Given the description of an element on the screen output the (x, y) to click on. 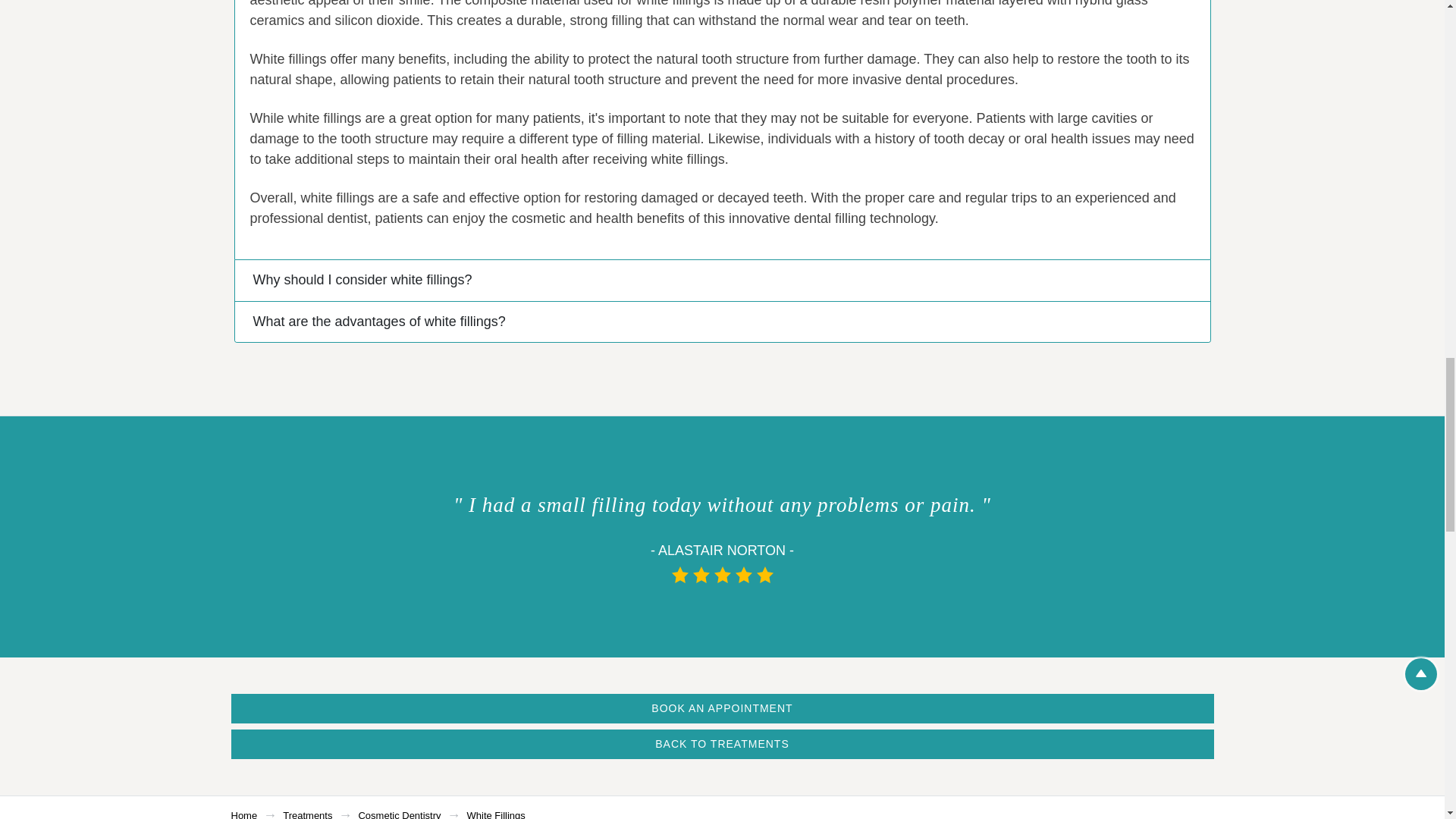
What are the advantages of white fillings? (721, 322)
Why should I consider white fillings? (721, 280)
Cosmetic Dentistry (399, 814)
Treatments (306, 814)
BOOK AN APPOINTMENT (721, 708)
White Fillings (496, 814)
BACK TO TREATMENTS (721, 744)
Home (243, 814)
